Given the description of an element on the screen output the (x, y) to click on. 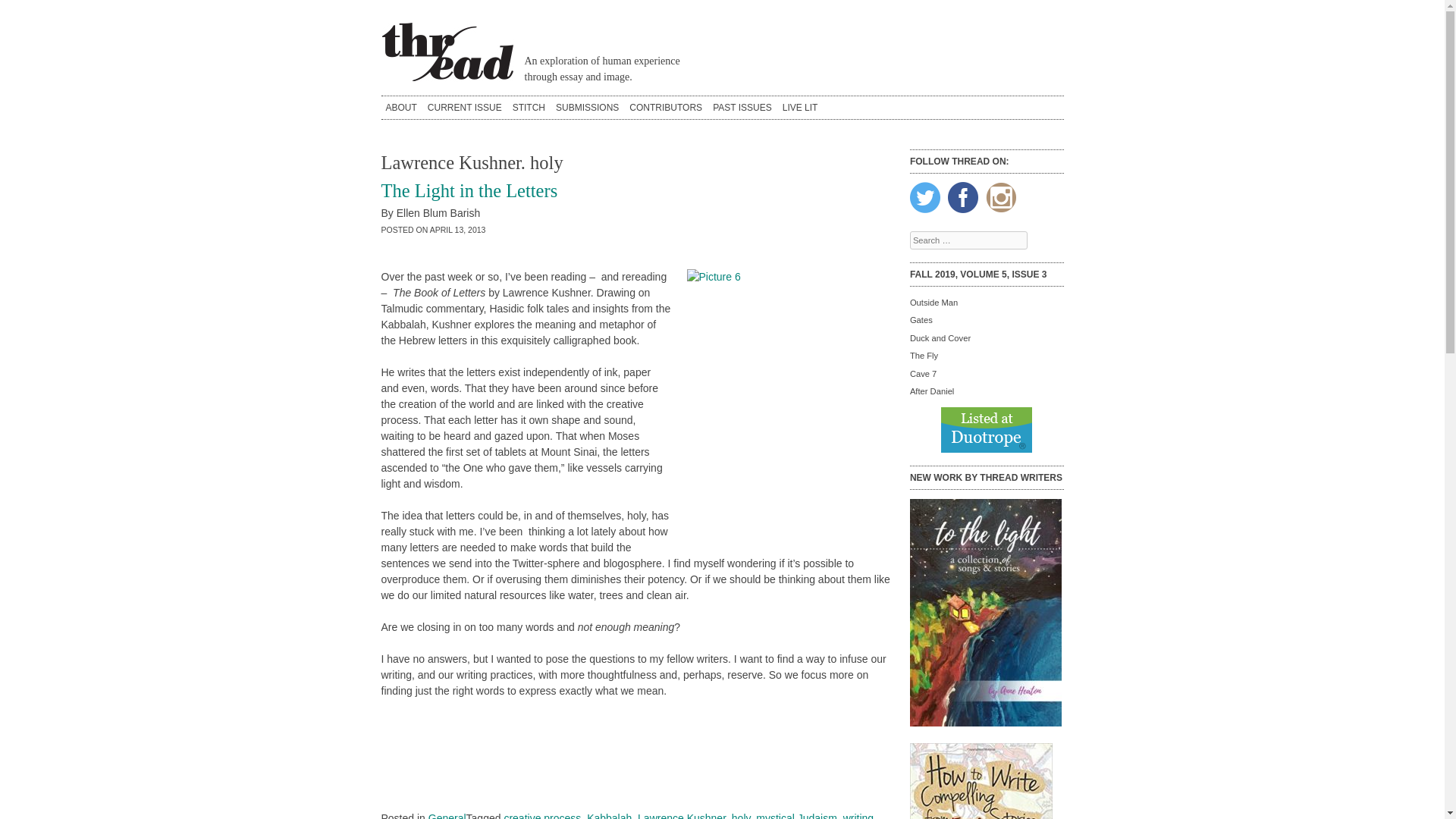
creative process (541, 815)
After Daniel (931, 390)
mystical Judaism (796, 815)
The Fly (923, 355)
PAST ISSUES (741, 107)
LIVE LIT (799, 107)
ABOUT (400, 107)
STITCH (529, 107)
Cave 7 (923, 373)
General (446, 815)
Search (24, 9)
Duck and Cover (940, 338)
SUBMISSIONS (587, 107)
CONTRIBUTORS (665, 107)
Outside Man (934, 302)
